Given the description of an element on the screen output the (x, y) to click on. 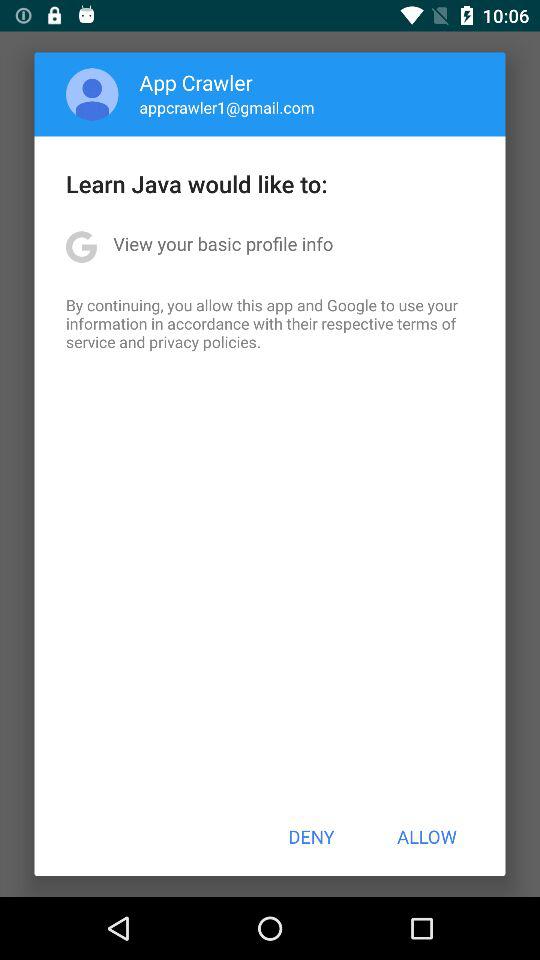
scroll until deny button (311, 836)
